Given the description of an element on the screen output the (x, y) to click on. 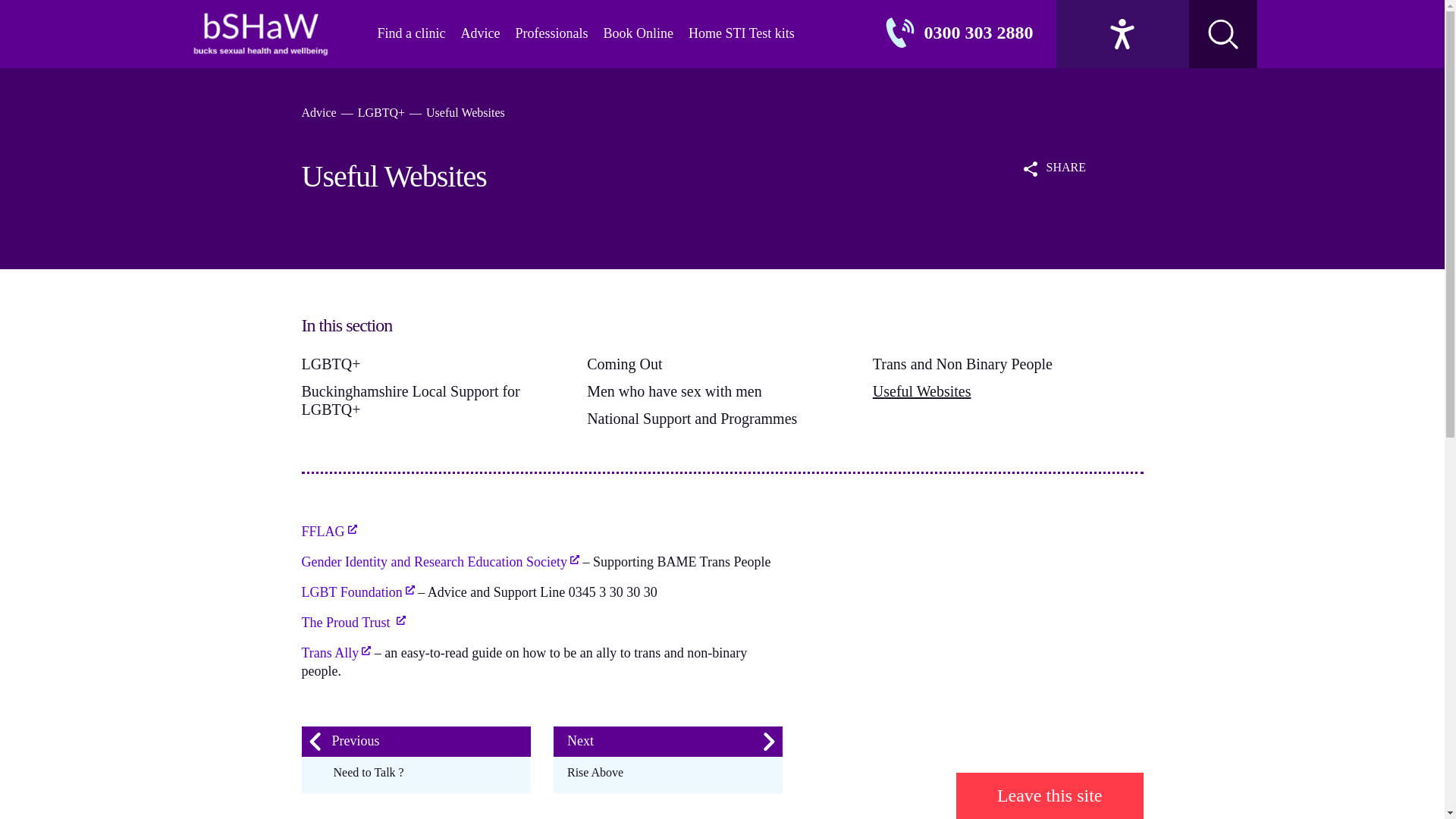
National Support and Programmes (691, 418)
Professionals (551, 33)
LGBT Foundation (357, 592)
Trans and Non Binary People (962, 363)
Advice (479, 33)
Launch Recite Me for Accessibility support (1121, 33)
Gender Identity and Research Education Society (440, 562)
0300 303 2880 (977, 32)
Trans Ally (336, 653)
Coming Out (624, 363)
Sexual Health Bucks (259, 32)
The Proud Trust  (353, 623)
FFLAG (328, 532)
Find a clinic (411, 33)
Useful Websites (921, 391)
